Given the description of an element on the screen output the (x, y) to click on. 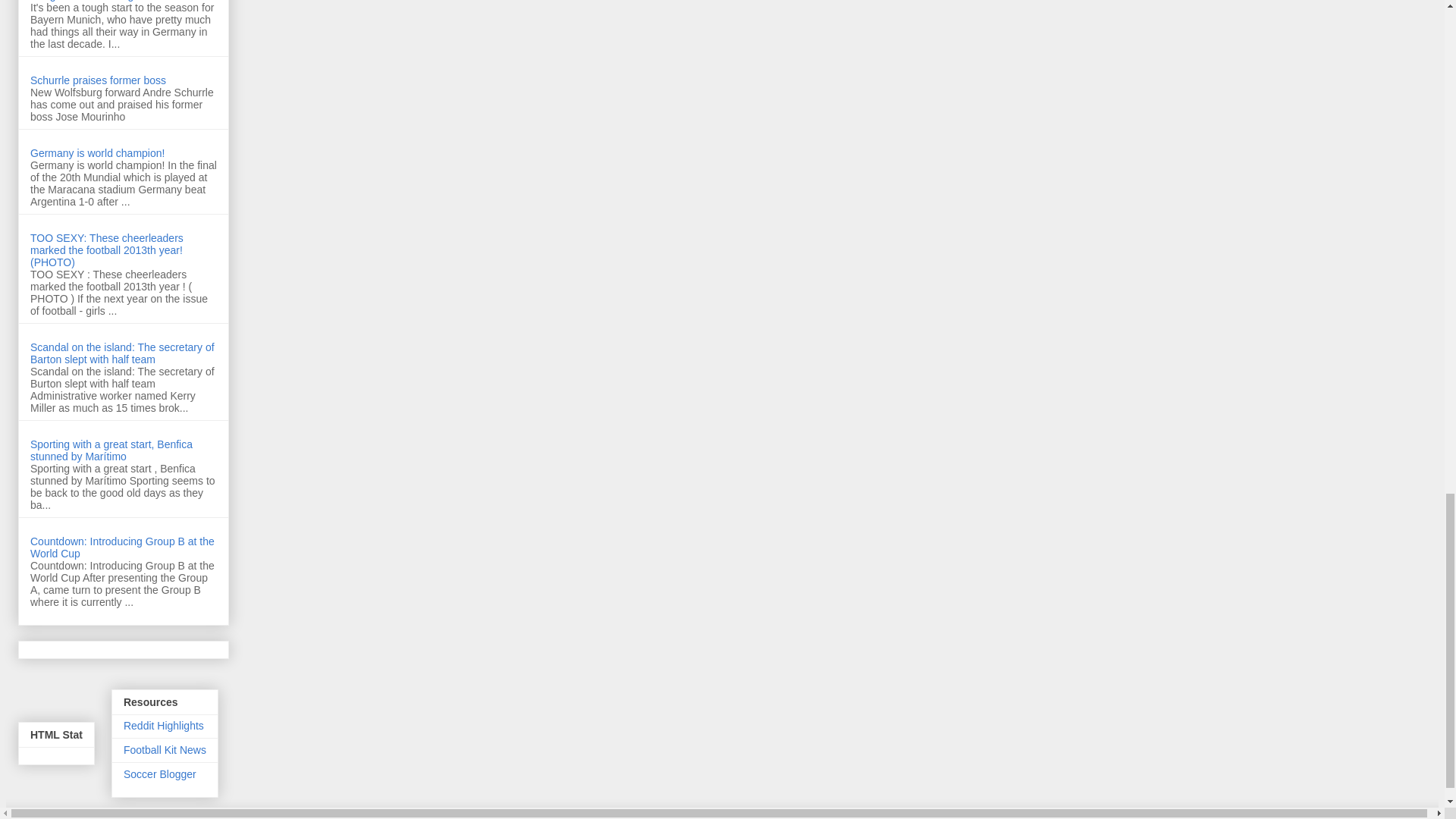
Countdown: Introducing Group B at the World Cup (122, 547)
Schurrle praises former boss (97, 80)
Germany is world champion! (97, 152)
Soccer Blogger (159, 774)
Football Kit News (164, 749)
Reddit Highlights (163, 725)
